Given the description of an element on the screen output the (x, y) to click on. 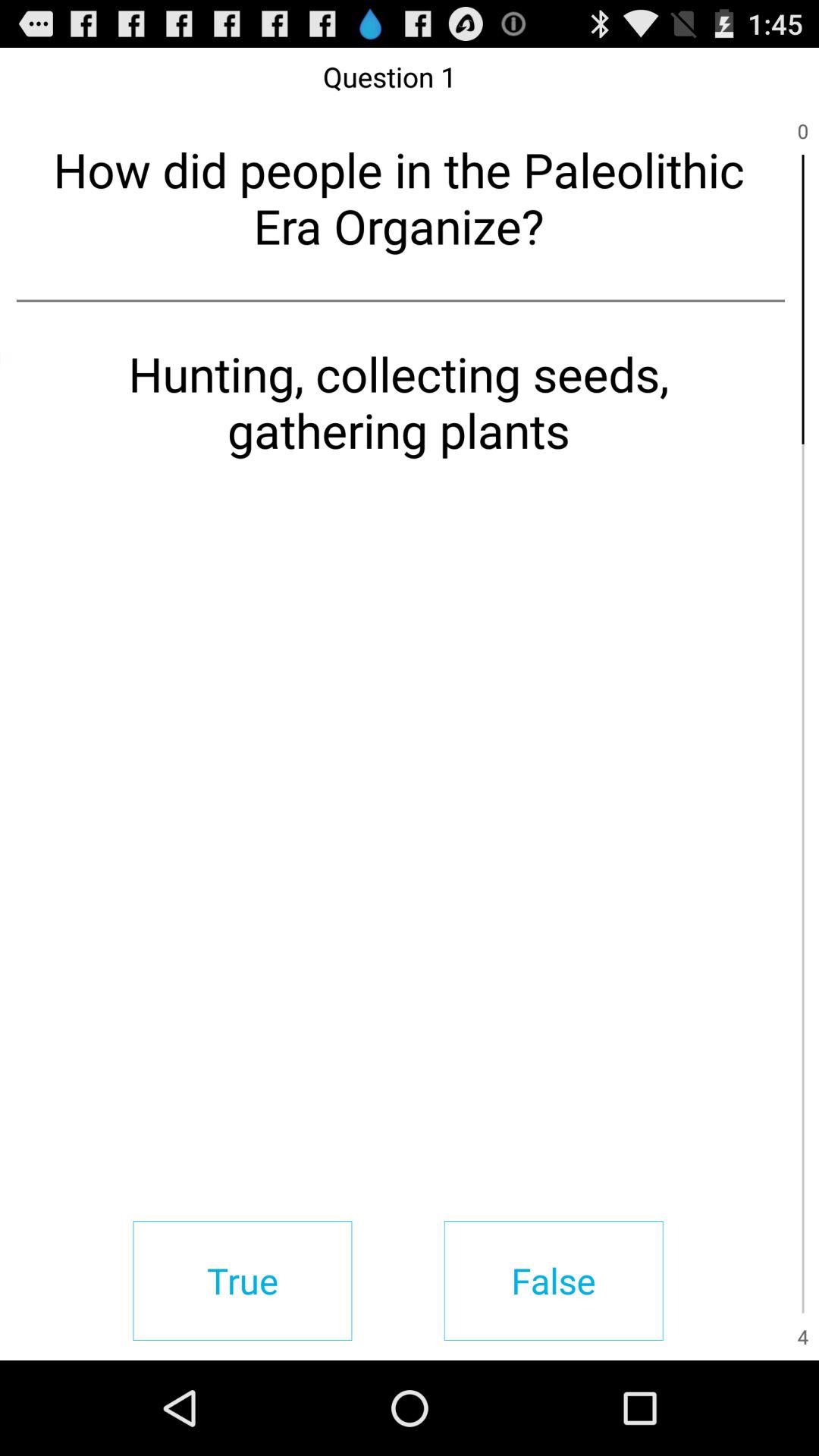
turn on icon below the 0 item (802, 299)
